Given the description of an element on the screen output the (x, y) to click on. 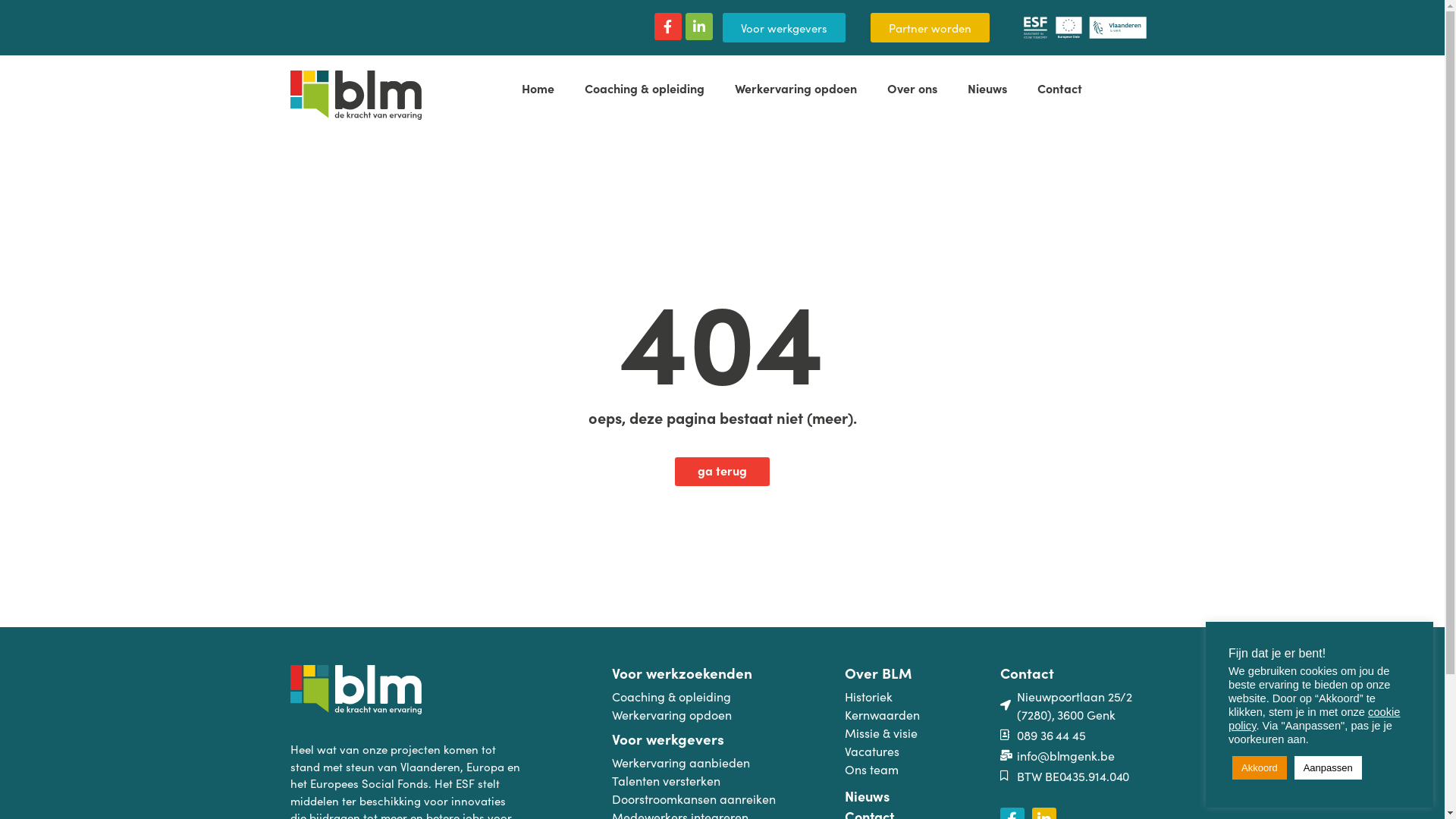
Nieuws Element type: text (987, 87)
Kernwaarden Element type: text (922, 714)
Nieuws Element type: text (922, 795)
ga terug Element type: text (721, 470)
Werkervaring aanbieden Element type: text (727, 762)
Talenten versterken Element type: text (727, 780)
Werkervaring opdoen Element type: text (727, 714)
Vacatures Element type: text (922, 750)
Missie & visie Element type: text (922, 732)
Doorstroomkansen aanreiken Element type: text (727, 798)
Coaching & opleiding Element type: text (643, 87)
Home Element type: text (537, 87)
Werkervaring opdoen Element type: text (794, 87)
089 36 44 45 Element type: text (1077, 734)
Akkoord Element type: text (1259, 767)
Contact Element type: text (1059, 87)
Coaching & opleiding Element type: text (727, 696)
Voor werkgevers Element type: text (782, 27)
cookie policy Element type: text (1313, 718)
Historiek Element type: text (922, 696)
oeps, deze pagina bestaat niet (meer). Element type: text (722, 416)
Partner worden Element type: text (929, 27)
Aanpassen Element type: text (1327, 767)
info@blmgenk.be Element type: text (1077, 755)
Ons team Element type: text (922, 768)
Over ons Element type: text (912, 87)
